Given the description of an element on the screen output the (x, y) to click on. 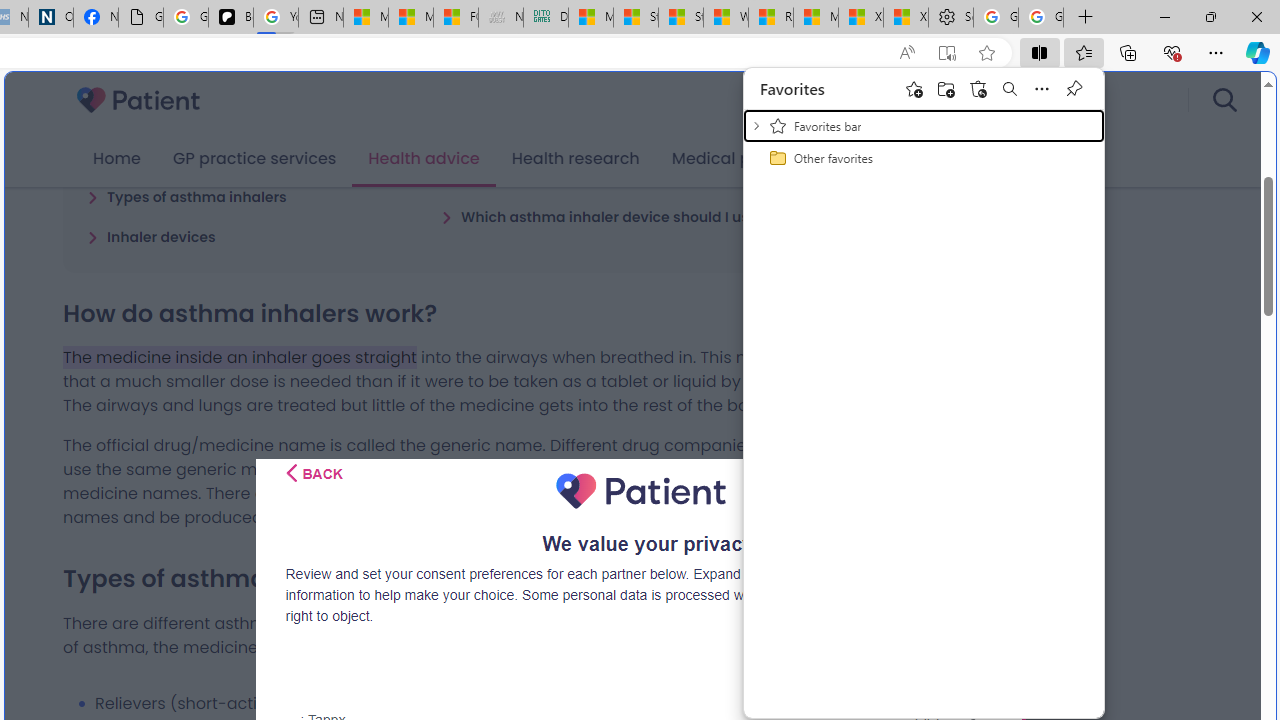
GP practice services (254, 159)
